Given the description of an element on the screen output the (x, y) to click on. 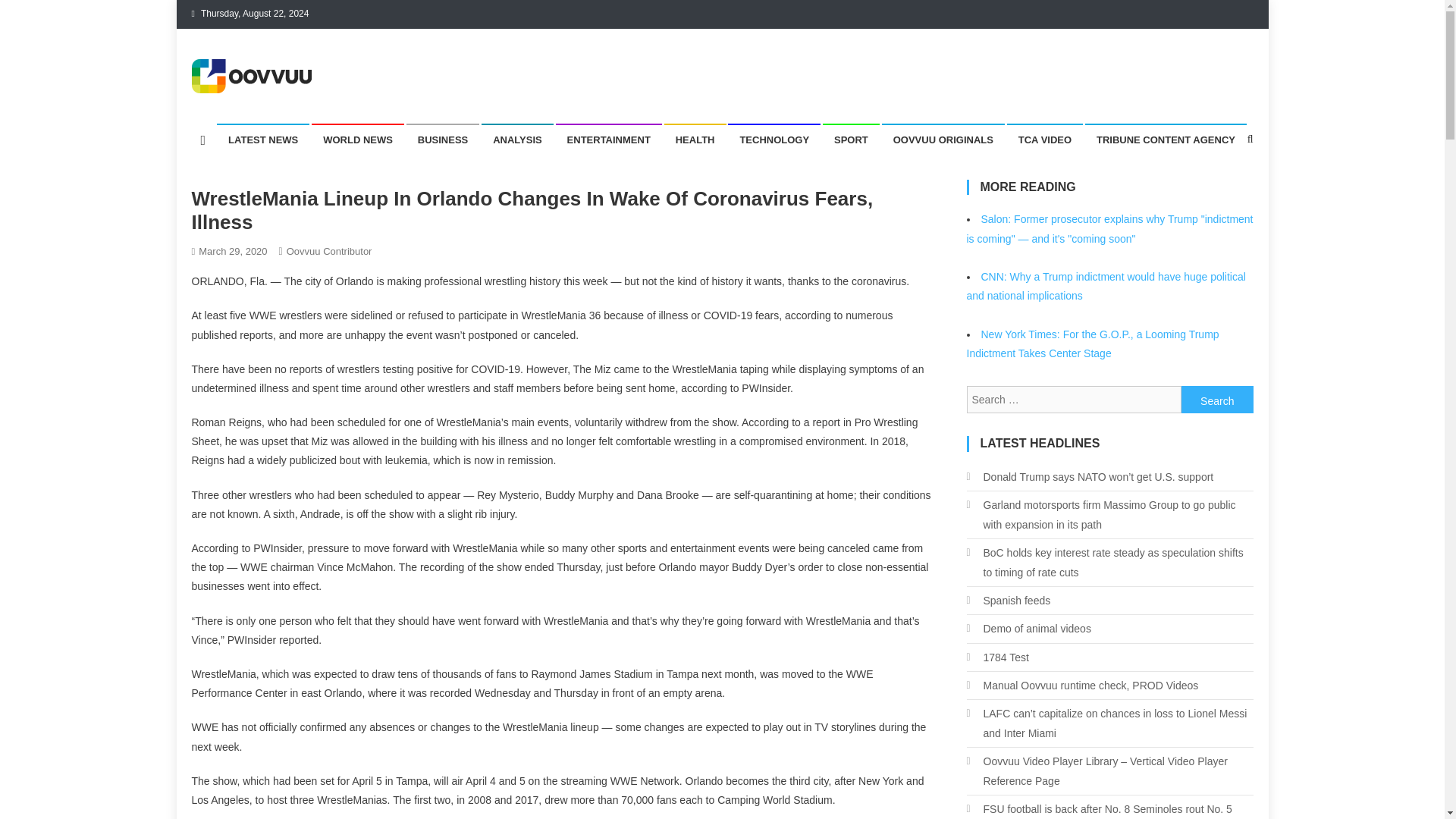
1784 Test (996, 657)
Oovvuu (235, 108)
HEALTH (694, 140)
Spanish feeds (1007, 600)
OOVVUU ORIGINALS (943, 140)
Search (1216, 399)
Manual Oovvuu runtime check, PROD Videos (1082, 685)
